Given the description of an element on the screen output the (x, y) to click on. 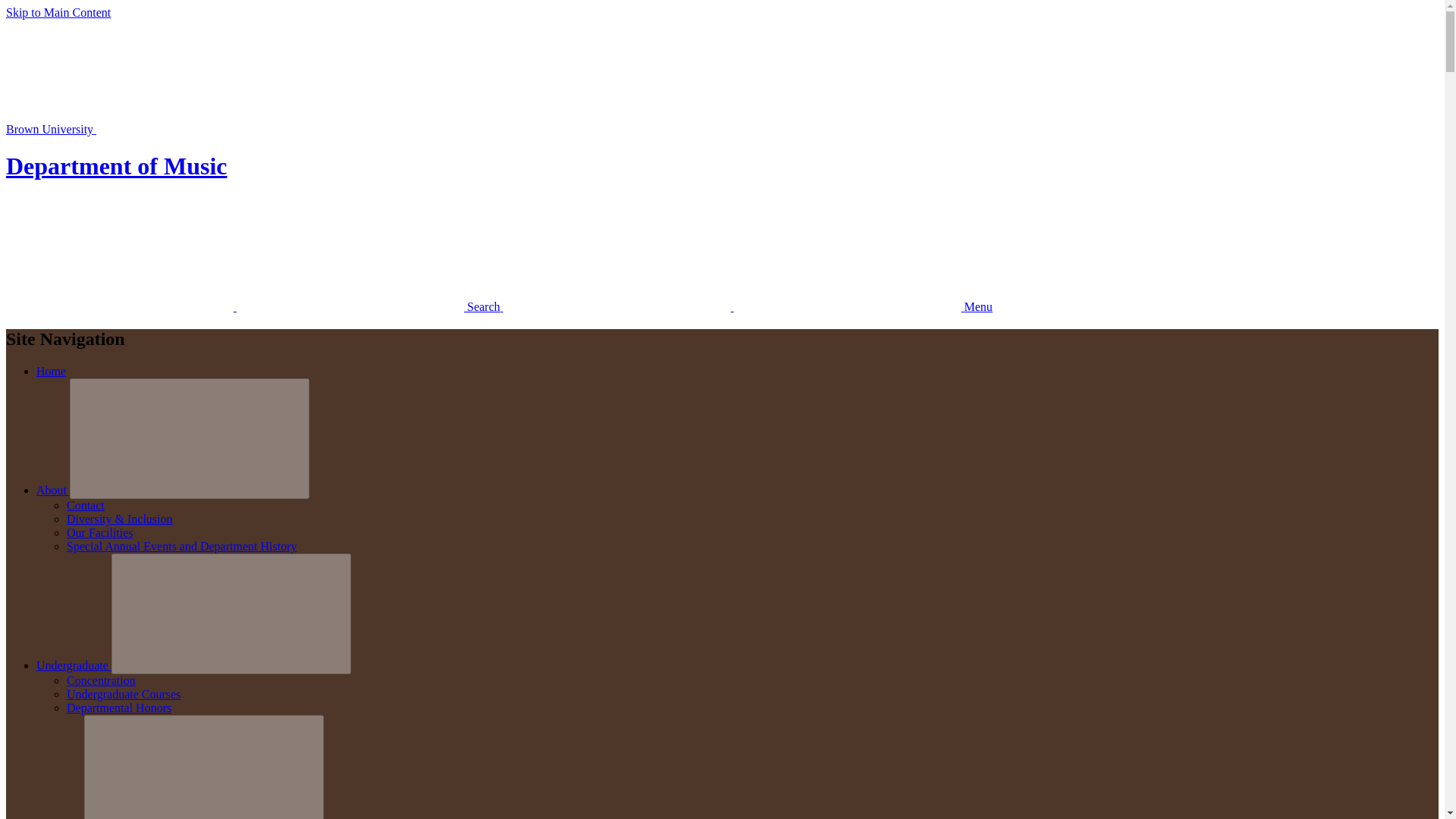
Menu (747, 306)
Home (50, 370)
Our Facilities (99, 532)
Departmental Honors (118, 707)
Search (254, 306)
Contact (85, 504)
Undergraduate (74, 665)
Special Annual Events and Department History (181, 545)
Undergraduate Courses (123, 694)
Skip to Main Content (57, 11)
